Given the description of an element on the screen output the (x, y) to click on. 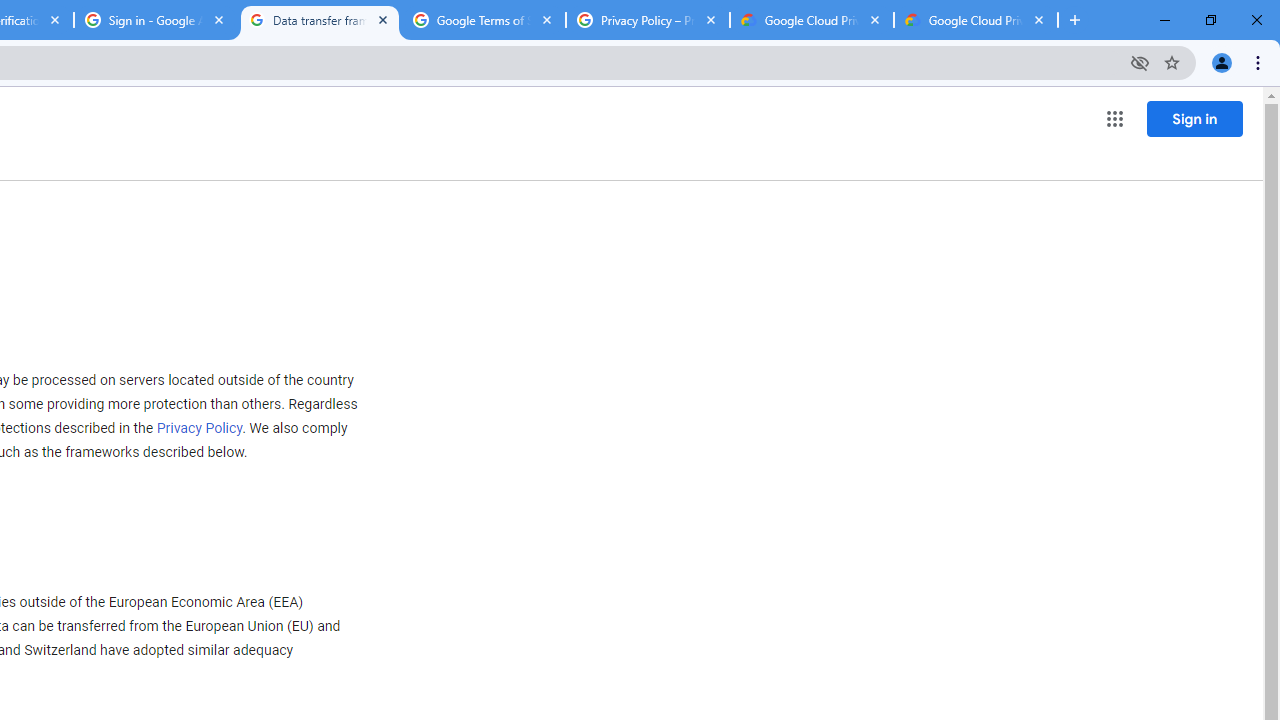
Google Cloud Privacy Notice (975, 20)
Privacy Policy (199, 428)
